Given the description of an element on the screen output the (x, y) to click on. 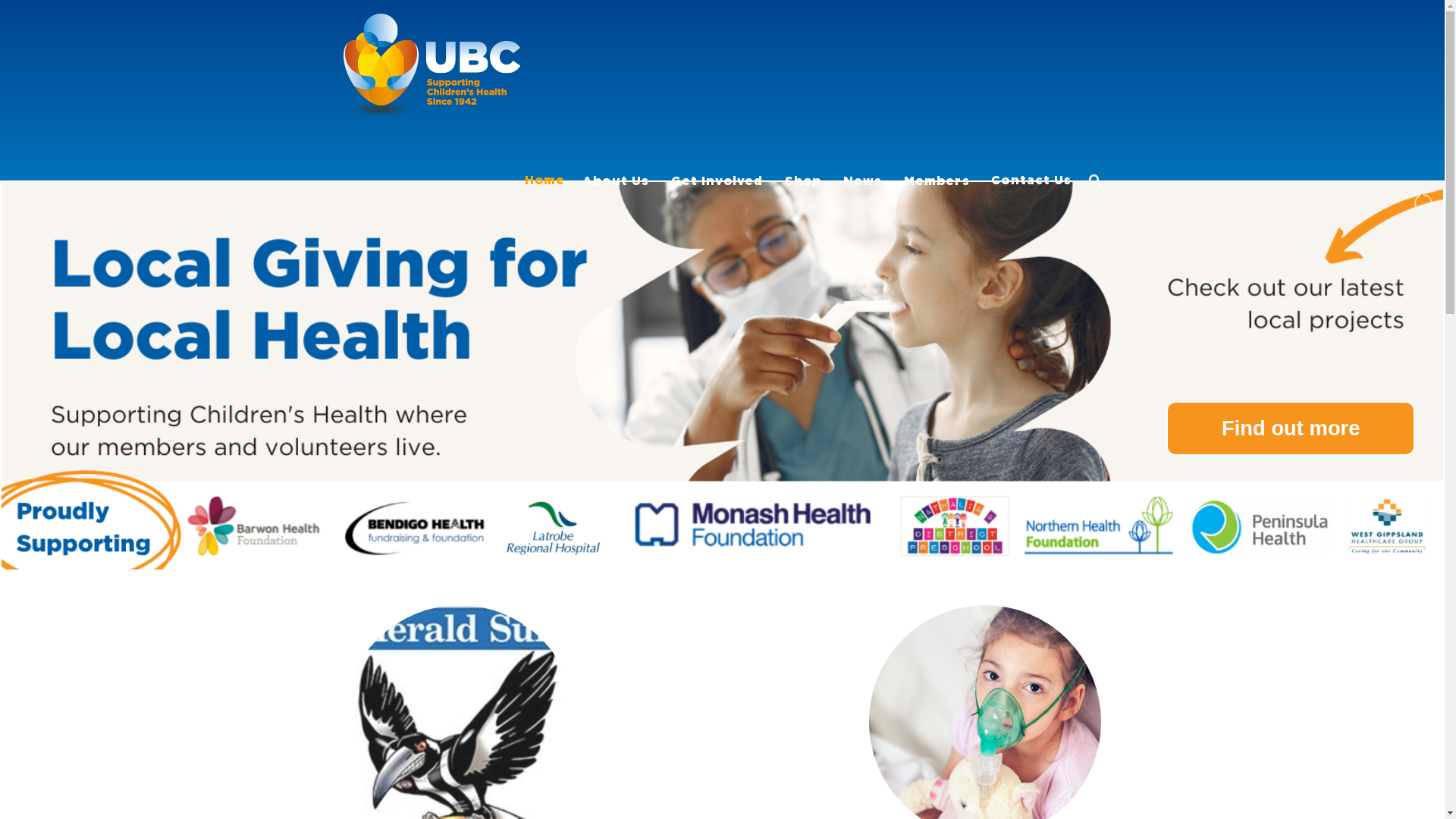
Home Element type: text (544, 144)
Get Involved Element type: text (718, 144)
Contact Us Element type: text (1030, 144)
Shop Element type: text (804, 144)
News Element type: text (864, 144)
About Us Element type: text (617, 144)
Members Element type: text (938, 144)
